Given the description of an element on the screen output the (x, y) to click on. 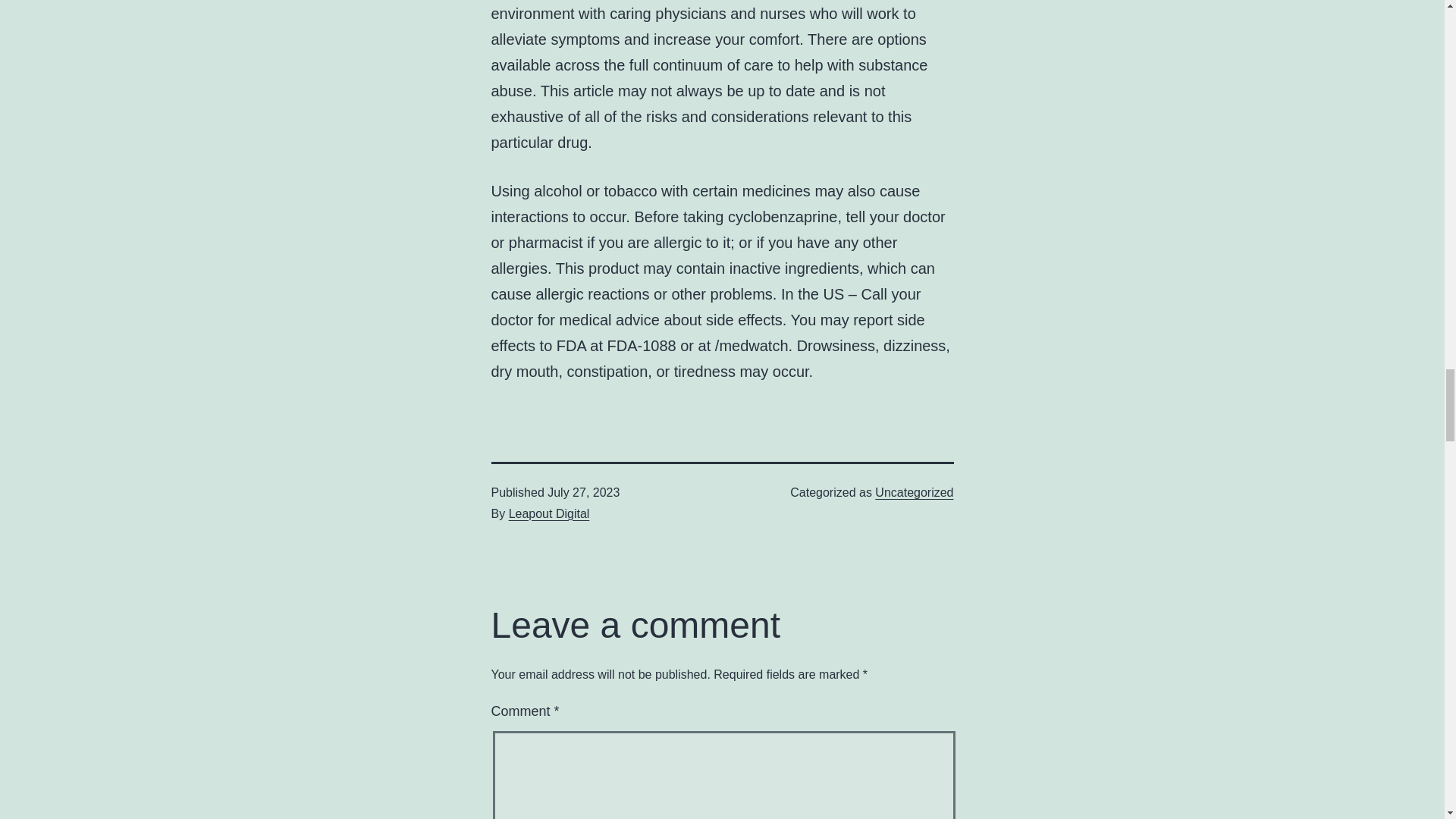
Leapout Digital (548, 513)
Uncategorized (914, 492)
